Given the description of an element on the screen output the (x, y) to click on. 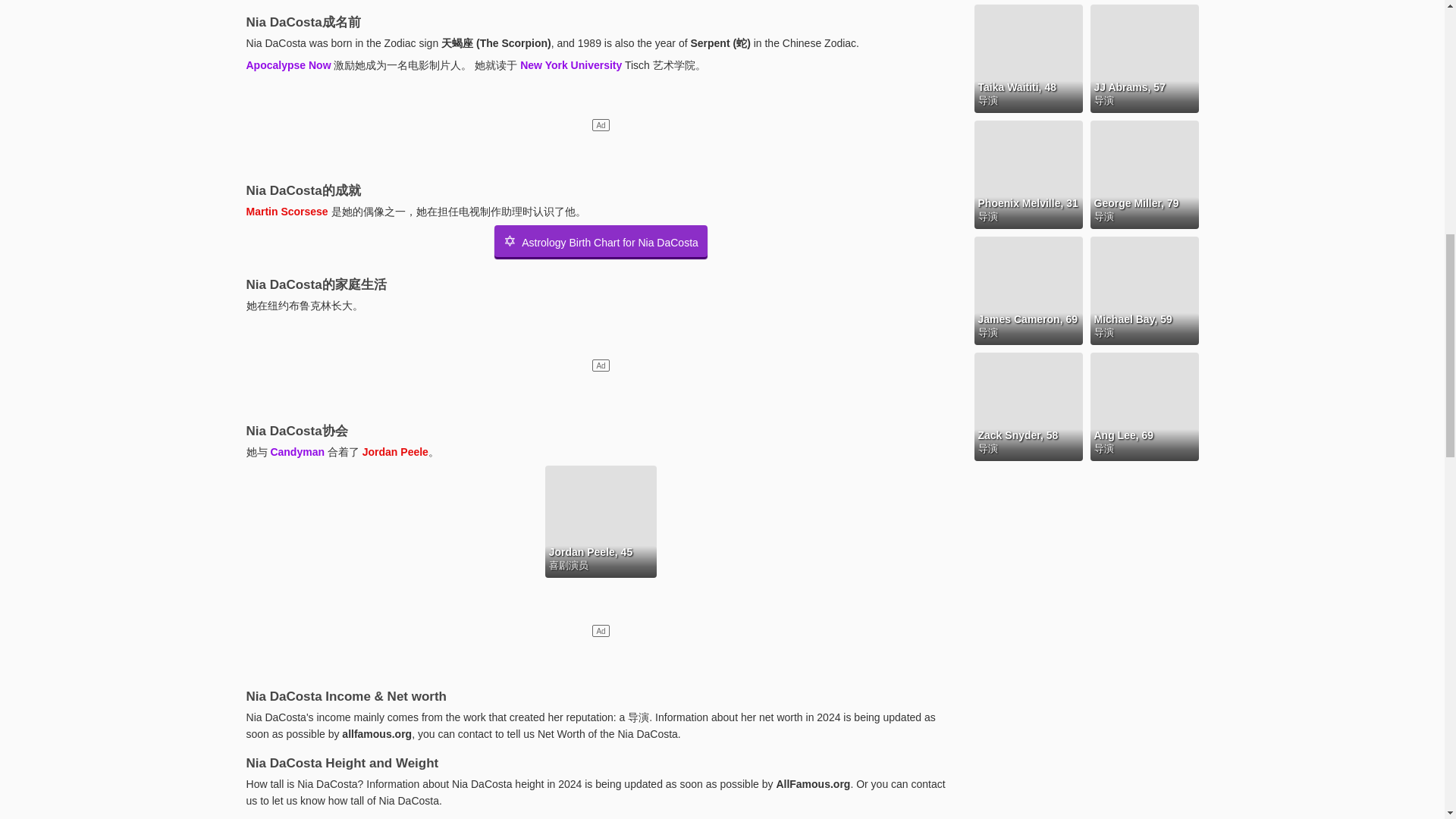
New York University School (570, 64)
Martin Scorsese biography (286, 211)
Apocalypse Now Movie (288, 64)
Candyman Movie (296, 451)
Jordan Peele biography (395, 451)
